Given the description of an element on the screen output the (x, y) to click on. 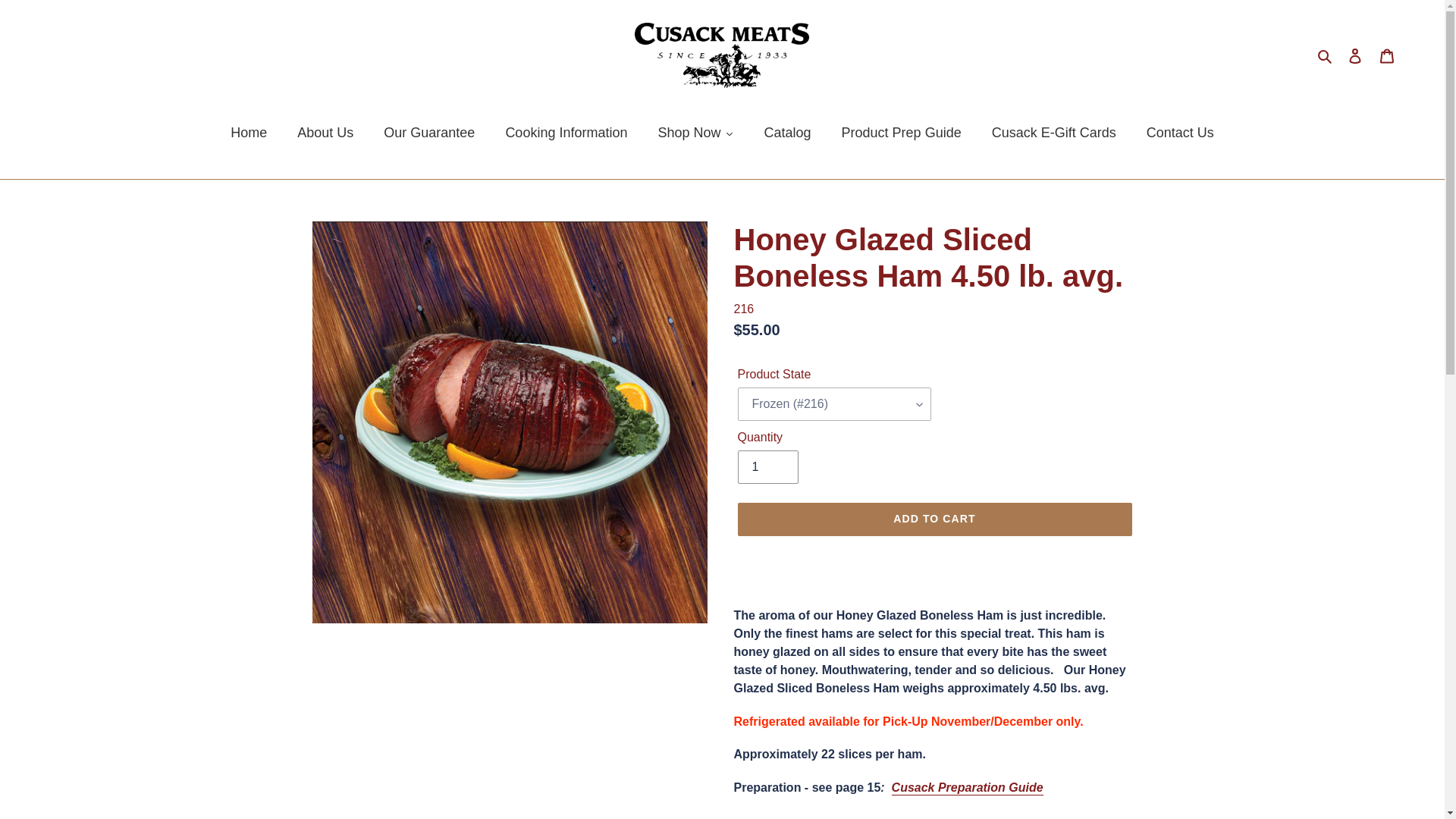
Cart (1387, 55)
Our Guarantee (428, 133)
Cooking Information (565, 133)
Contact Us (1179, 133)
Search (1326, 55)
Our Guarantee (428, 133)
Contact Us (1179, 133)
Cusack Preparation Guide (967, 788)
Shop Now (695, 133)
Cooking Information (565, 133)
Log in (1355, 55)
Cusack E-Gift Cards (1053, 133)
Cusack E-Gift Cards (1053, 133)
Cusack Preparation Guide (967, 788)
About Us (325, 133)
